Given the description of an element on the screen output the (x, y) to click on. 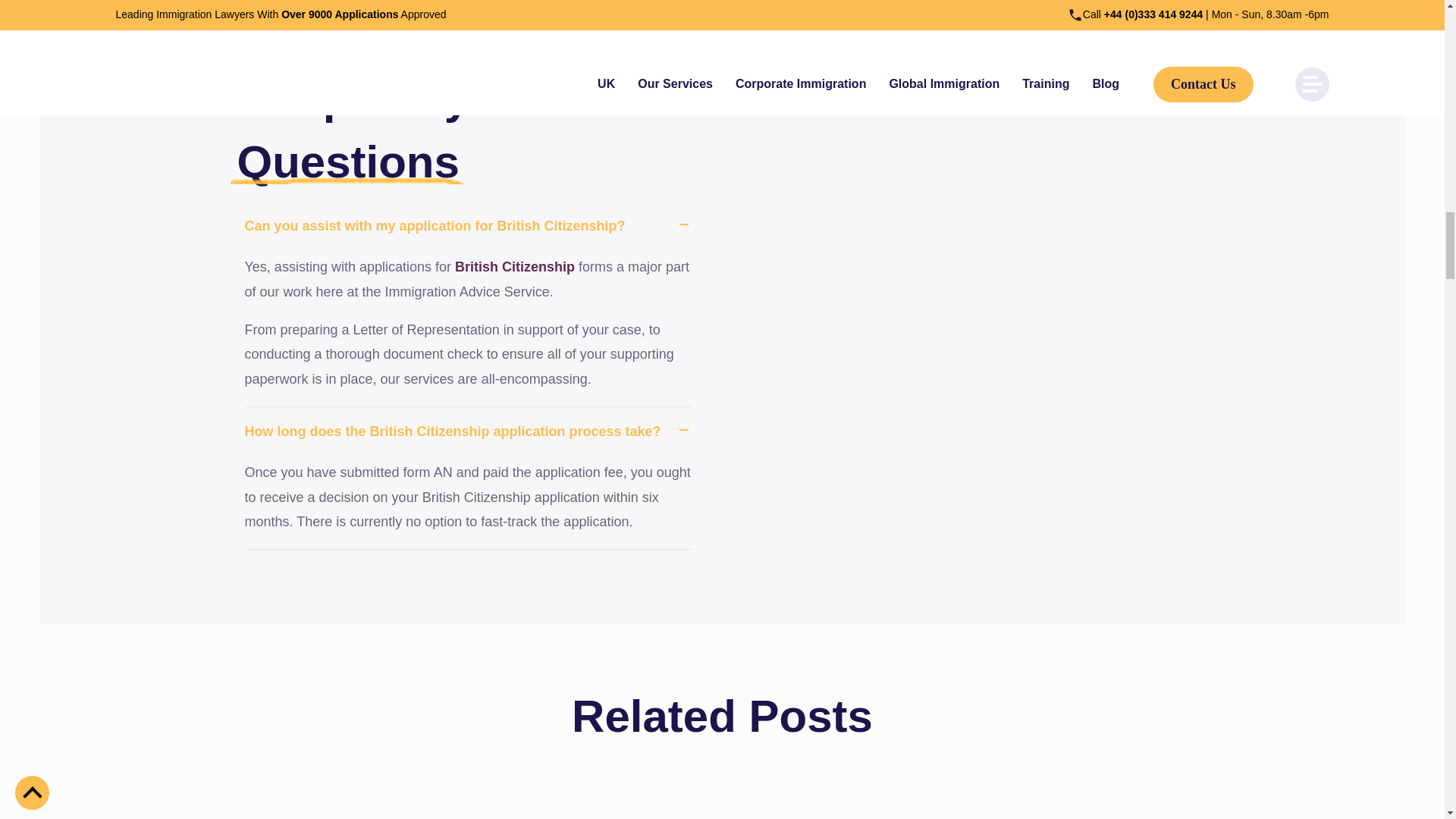
Skilled Worker Entry Clearance (721, 802)
